Given the description of an element on the screen output the (x, y) to click on. 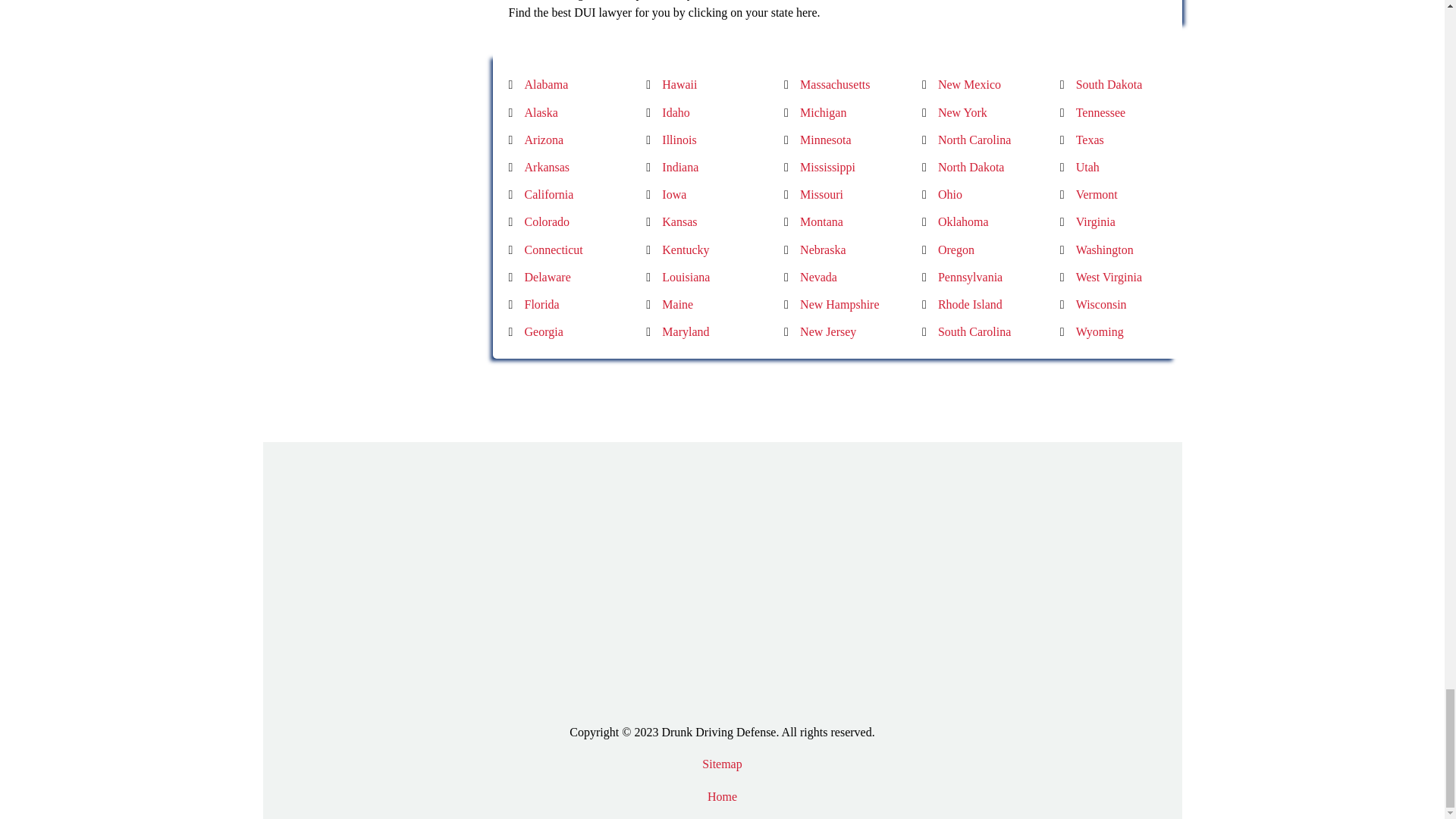
Drunk Driving Defense (1024, 2)
